Given the description of an element on the screen output the (x, y) to click on. 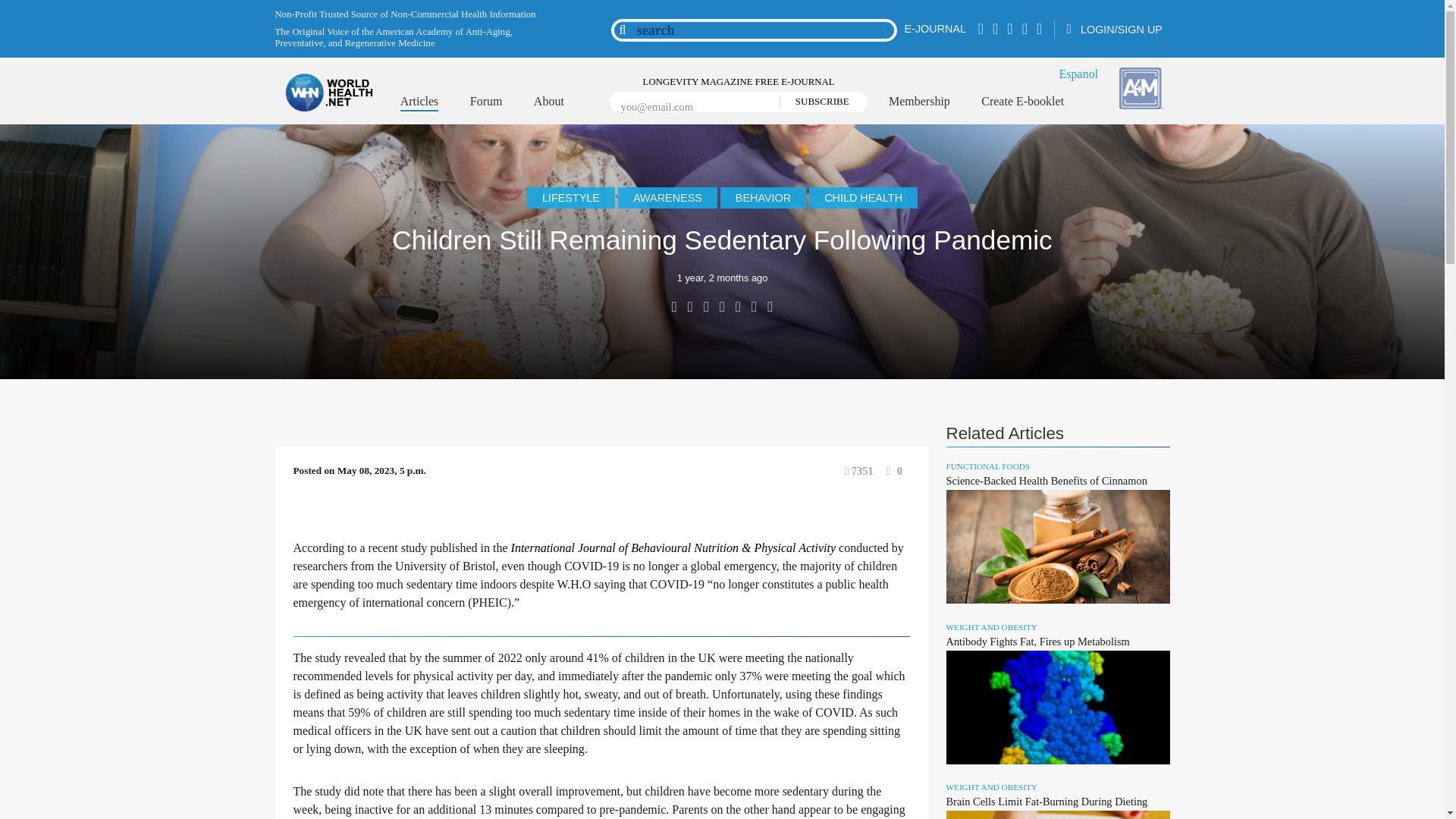
E-JOURNAL (935, 28)
subscribe (817, 101)
Espanol (1079, 73)
Create E-booklet (1022, 102)
Membership (919, 102)
Forum (486, 102)
subscribe (817, 101)
Articles (419, 103)
About (549, 102)
